Given the description of an element on the screen output the (x, y) to click on. 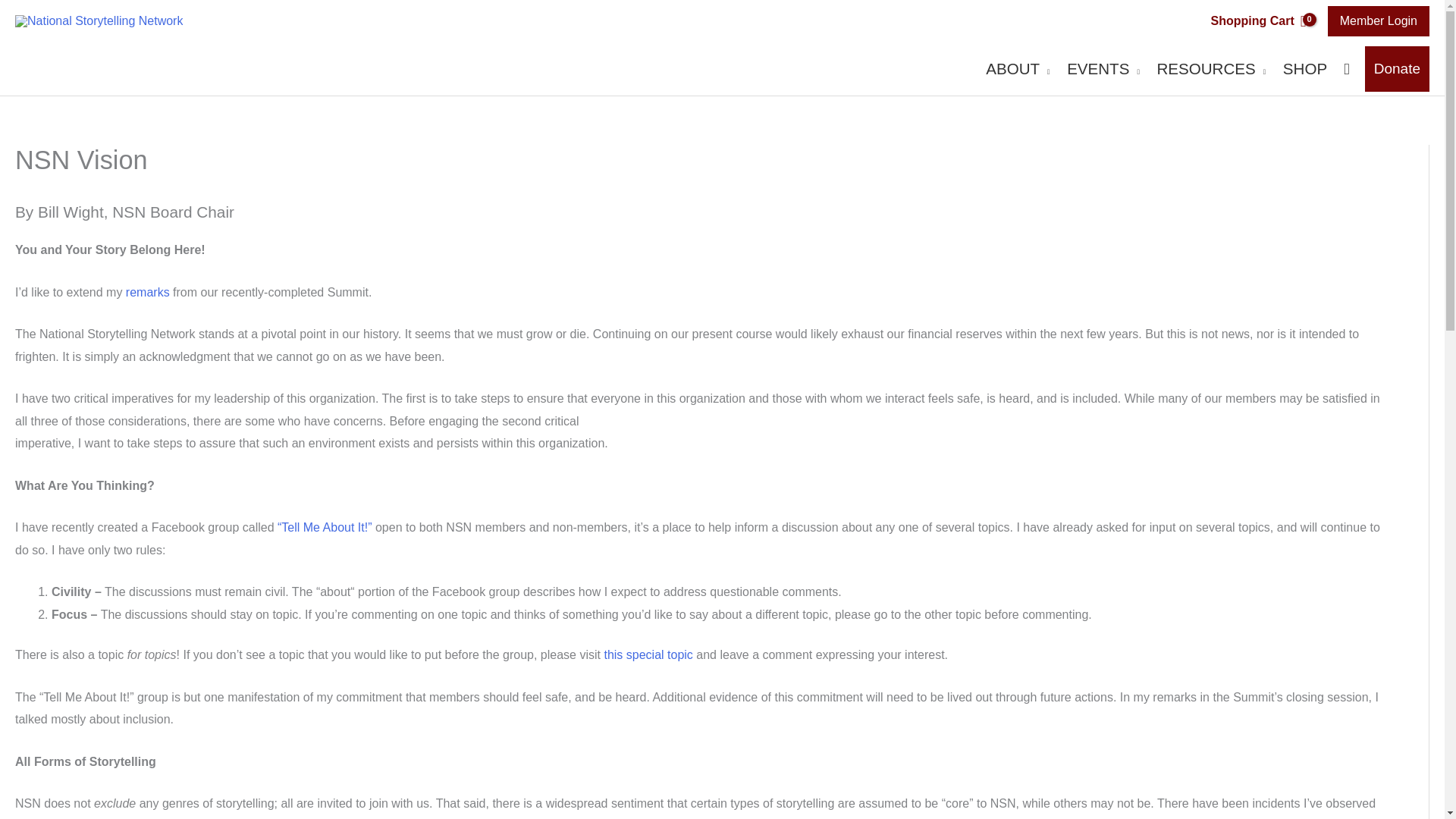
Shopping Cart (1258, 21)
ABOUT (1011, 68)
RESOURCES (1203, 68)
Member Login (1378, 20)
SHOP (1296, 68)
EVENTS (1096, 68)
Donate (1397, 67)
